Given the description of an element on the screen output the (x, y) to click on. 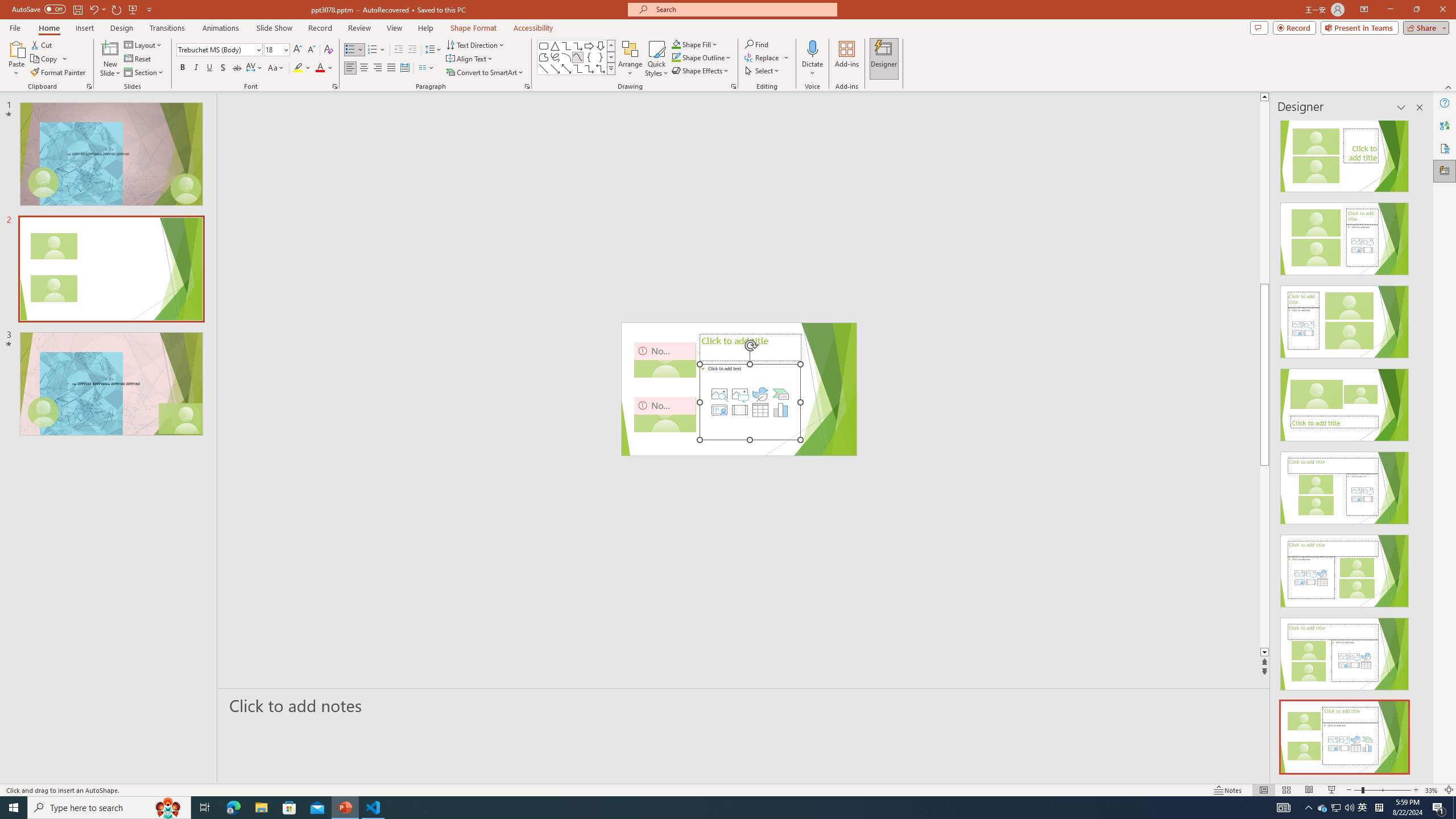
Insert Video (739, 409)
Line Arrow: Double (566, 68)
Insert a SmartArt Graphic (780, 394)
